Given the description of an element on the screen output the (x, y) to click on. 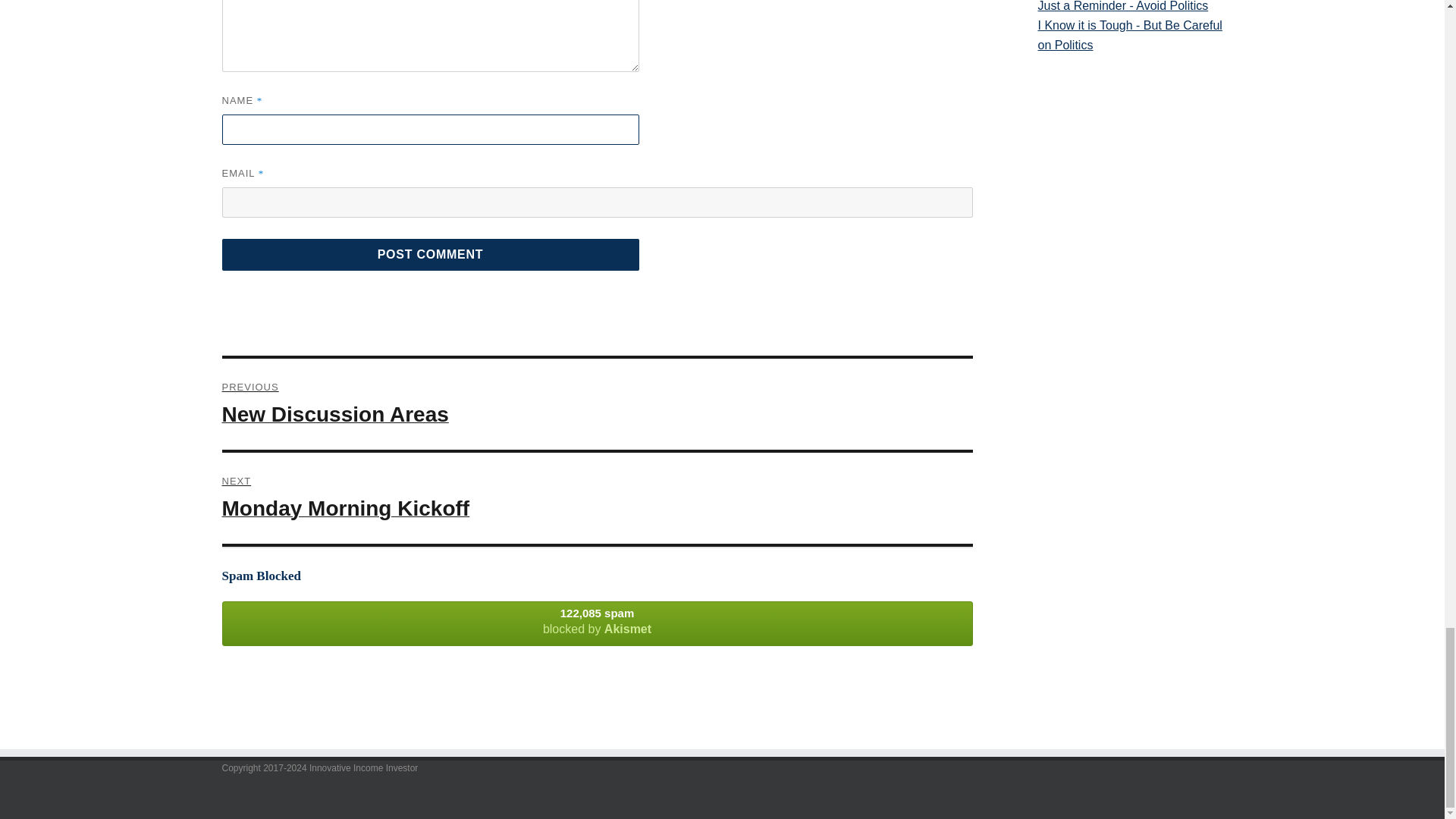
Post Comment (430, 255)
I Know it is Tough - But Be Careful on Politics (1129, 35)
Just a Reminder - Avoid Politics (1129, 7)
